Given the description of an element on the screen output the (x, y) to click on. 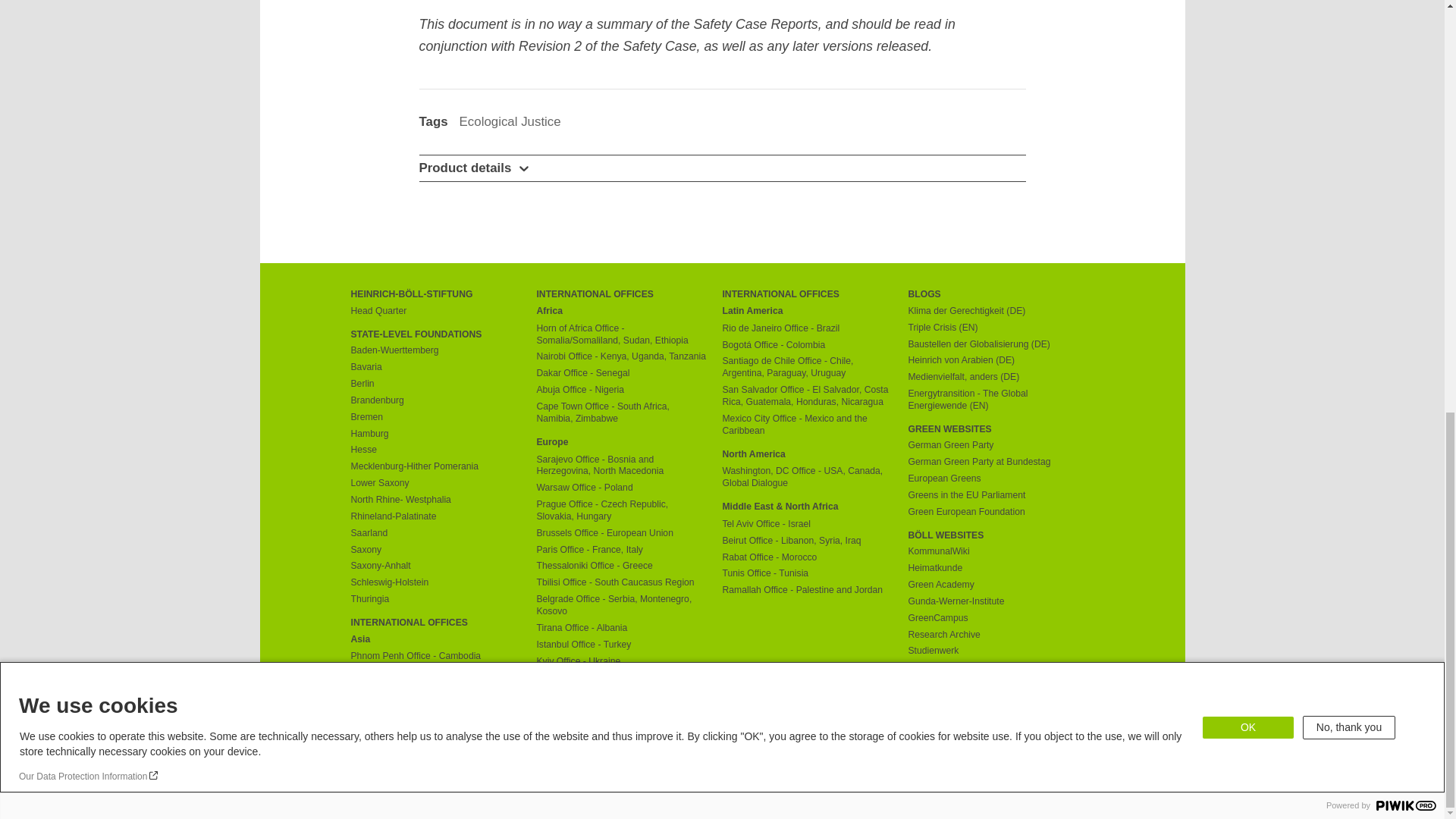
Ecological Justice (510, 121)
Saxony-Anhalt (435, 566)
Saxony (435, 550)
Berlin (435, 384)
Thuringia (435, 599)
Mecklenburg-Hither Pomerania (435, 467)
Phnom Penh Office - Cambodia (435, 656)
Brandenburg (435, 400)
Saarland (435, 533)
Bremen (435, 417)
Hesse (435, 450)
Rhineland-Palatinate (435, 517)
Baden-Wuerttemberg (435, 350)
North Rhine- Westphalia (435, 500)
Head Quarter (435, 311)
